Given the description of an element on the screen output the (x, y) to click on. 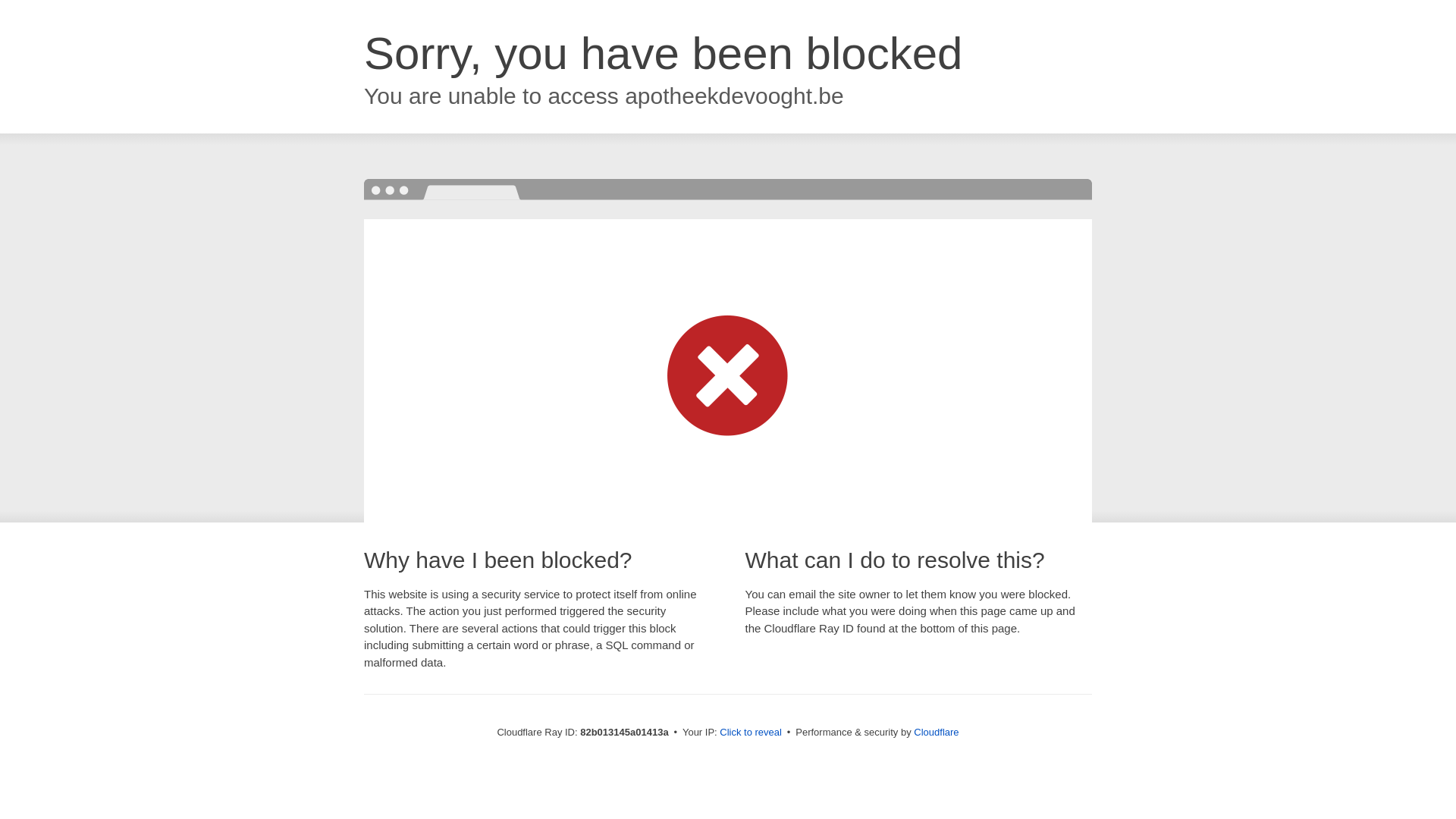
Click to reveal Element type: text (750, 732)
Cloudflare Element type: text (935, 731)
